Given the description of an element on the screen output the (x, y) to click on. 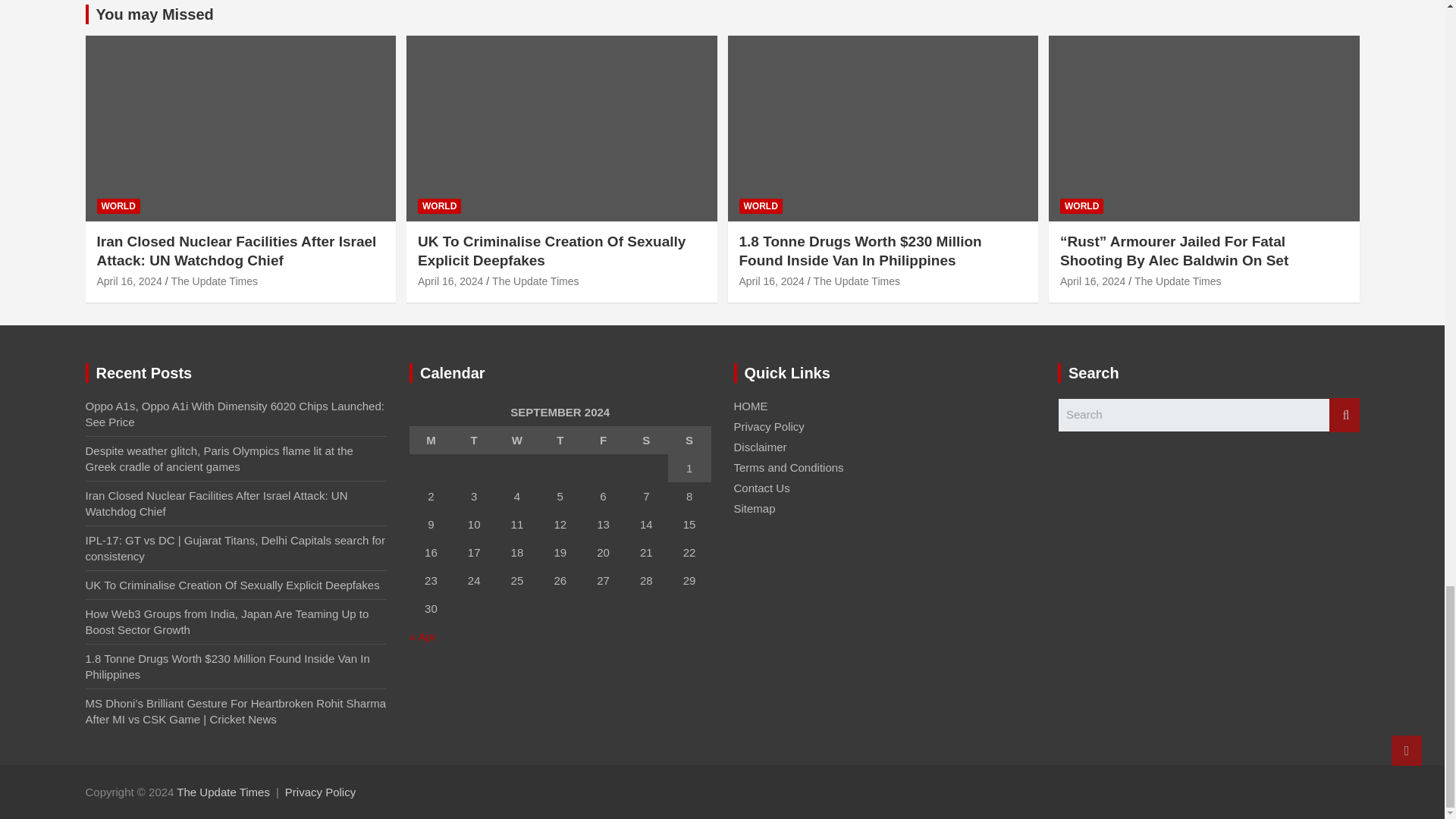
Friday (602, 439)
Wednesday (517, 439)
Saturday (646, 439)
The Update Times (222, 791)
Sunday (689, 439)
Thursday (559, 439)
Monday (430, 439)
UK To Criminalise Creation Of Sexually Explicit Deepfakes (450, 281)
Tuesday (474, 439)
